Given the description of an element on the screen output the (x, y) to click on. 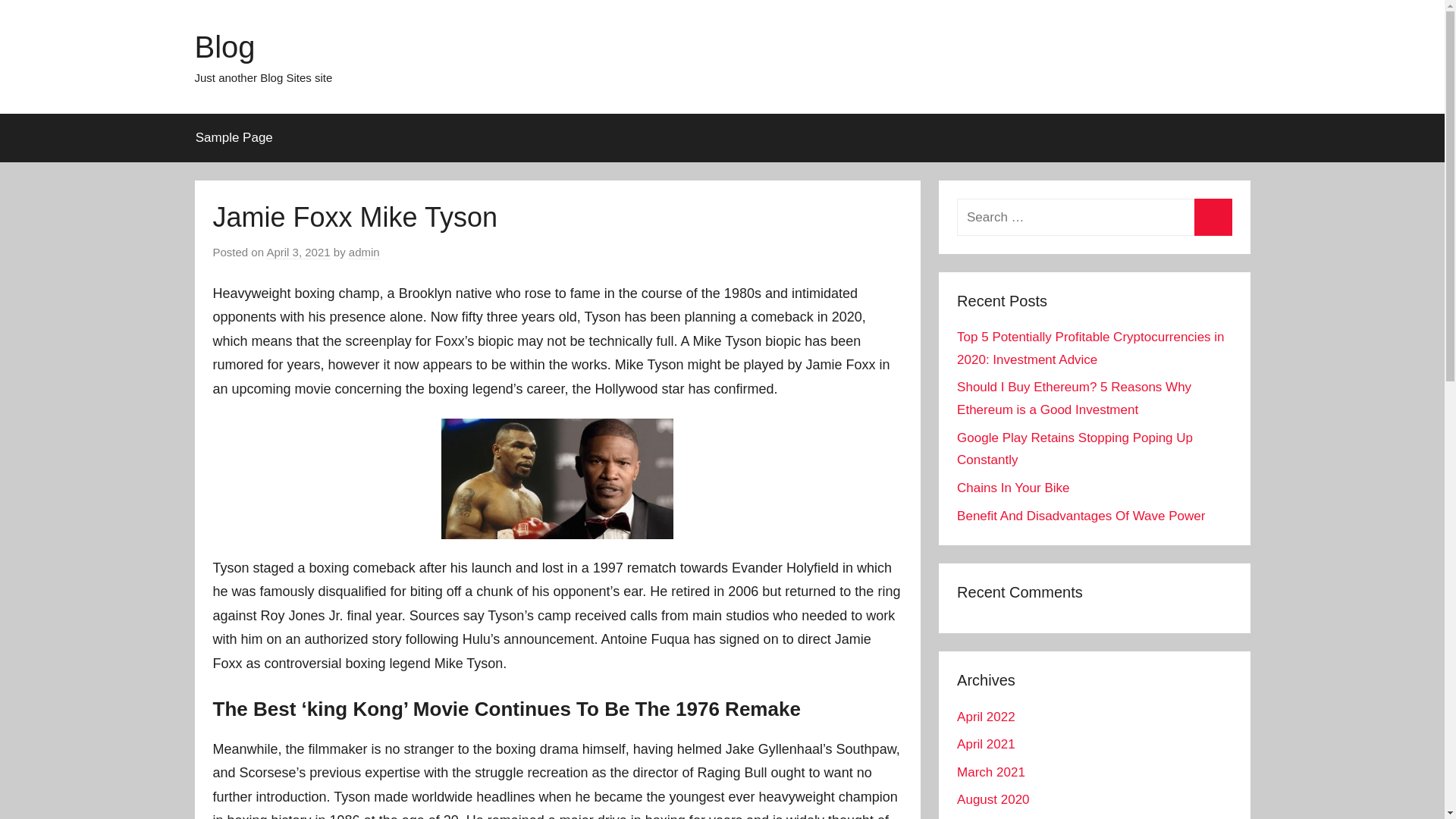
Search for: (1093, 217)
August 2020 (992, 799)
March 2021 (990, 771)
April 3, 2021 (298, 252)
Blog (223, 46)
Chains In Your Bike (1012, 487)
admin (364, 252)
Google Play Retains Stopping Poping Up Constantly (1074, 448)
April 2021 (985, 744)
Benefit And Disadvantages Of Wave Power (1080, 515)
April 2022 (985, 716)
View all posts by admin (364, 252)
